Given the description of an element on the screen output the (x, y) to click on. 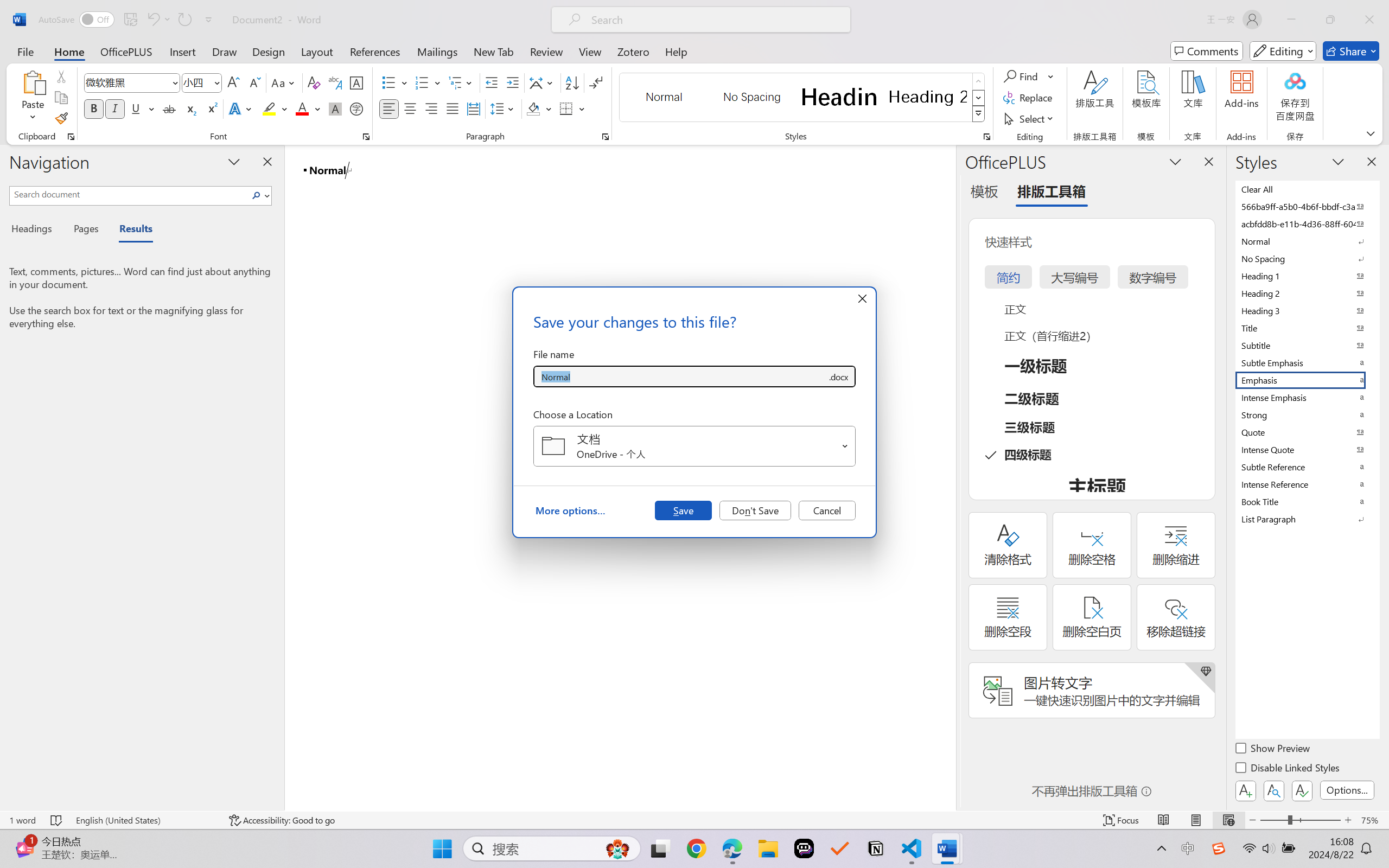
Repeat Style (184, 19)
Numbering (421, 82)
Phonetic Guide... (334, 82)
Focus  (1121, 819)
Text Highlight Color Yellow (269, 108)
Results (130, 229)
Layout (316, 51)
Paragraph... (605, 136)
Asian Layout (542, 82)
Justify (452, 108)
Find (1022, 75)
